Given the description of an element on the screen output the (x, y) to click on. 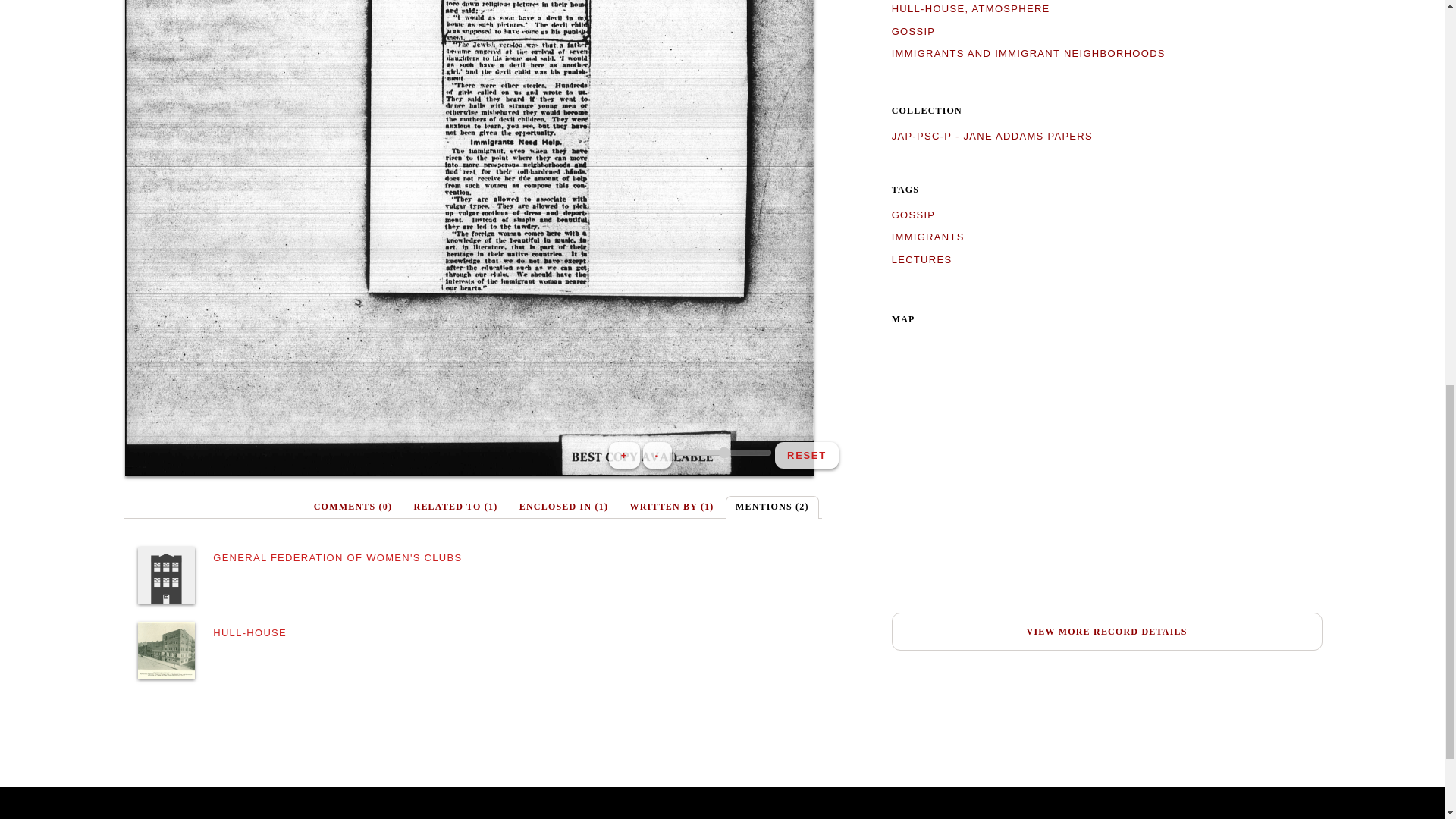
GENERAL FEDERATION OF WOMEN'S CLUBS (336, 557)
RESET (806, 455)
2.1 (722, 452)
Hull-House Polk Street view.jpg (166, 649)
HULL-HOUSE (249, 632)
- (657, 455)
